Given the description of an element on the screen output the (x, y) to click on. 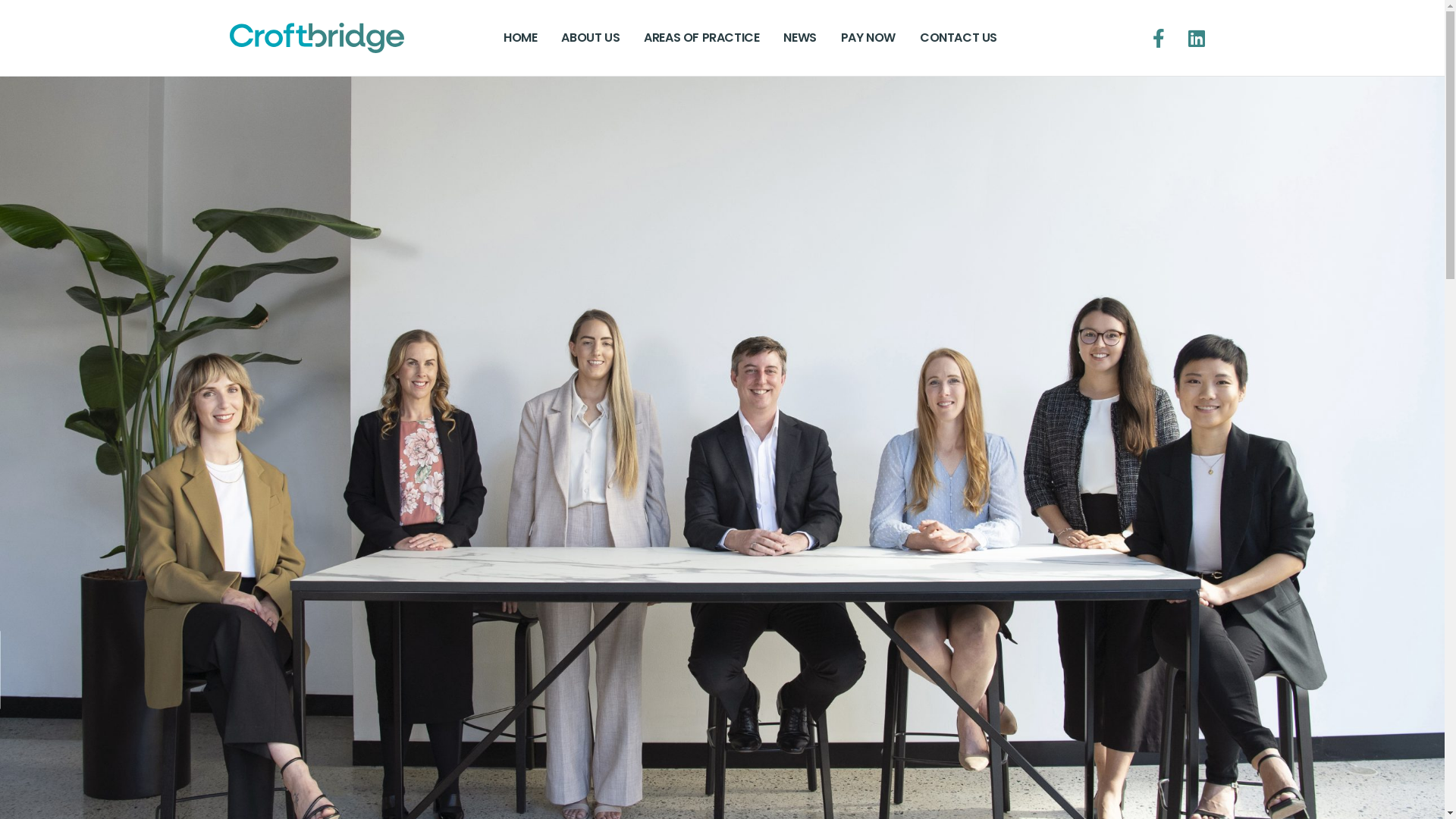
HOME Element type: text (520, 37)
PAY NOW Element type: text (867, 37)
NEWS Element type: text (799, 37)
CONTACT US Element type: text (958, 37)
ABOUT US Element type: text (589, 37)
AREAS OF PRACTICE Element type: text (701, 37)
